Given the description of an element on the screen output the (x, y) to click on. 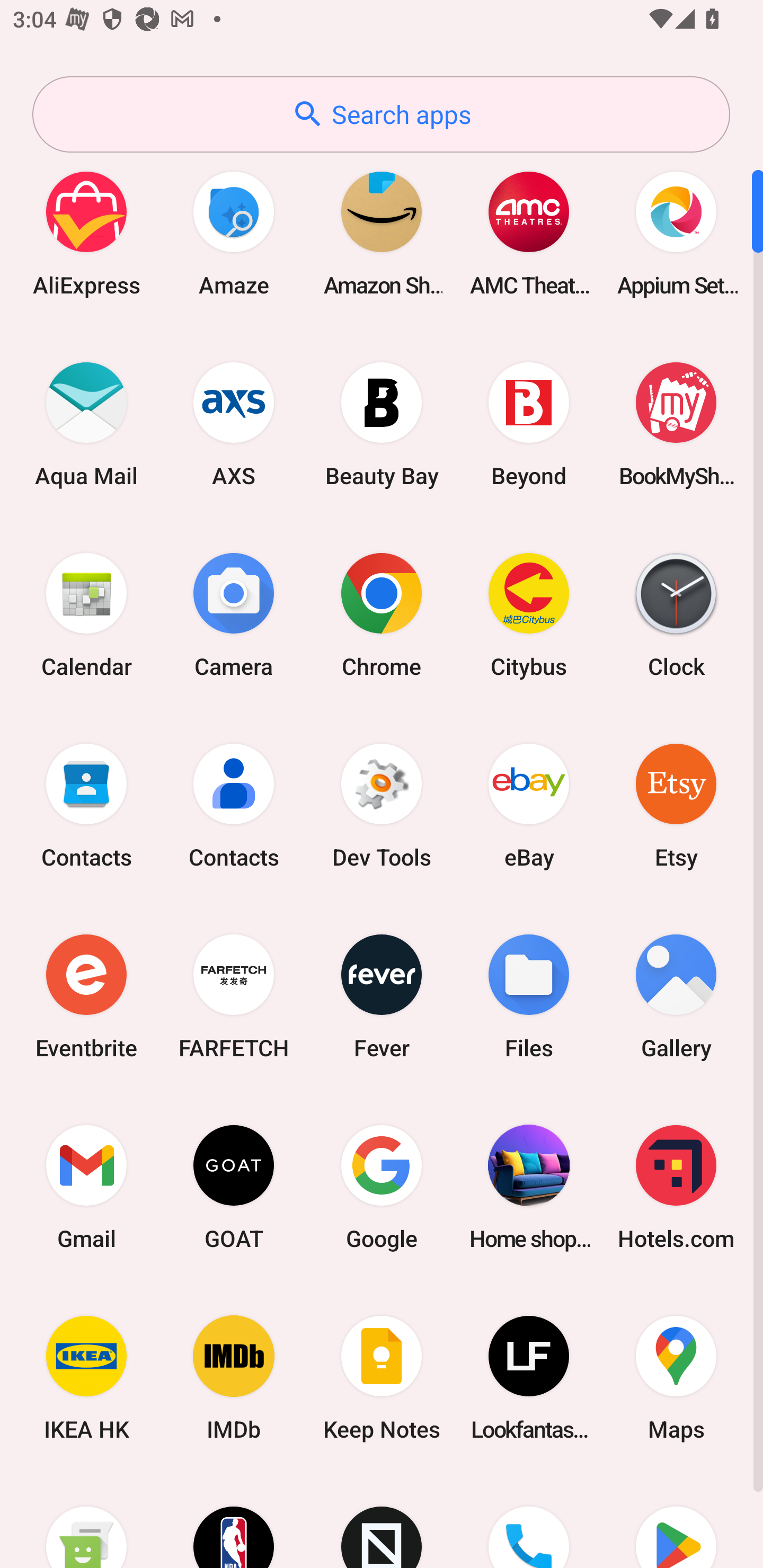
  Search apps (381, 114)
AliExpress (86, 233)
Amaze (233, 233)
Amazon Shopping (381, 233)
AMC Theatres (528, 233)
Appium Settings (676, 233)
Aqua Mail (86, 424)
AXS (233, 424)
Beauty Bay (381, 424)
Beyond (528, 424)
BookMyShow (676, 424)
Calendar (86, 614)
Camera (233, 614)
Chrome (381, 614)
Citybus (528, 614)
Clock (676, 614)
Contacts (86, 805)
Contacts (233, 805)
Dev Tools (381, 805)
eBay (528, 805)
Etsy (676, 805)
Eventbrite (86, 996)
FARFETCH (233, 996)
Fever (381, 996)
Files (528, 996)
Gallery (676, 996)
Gmail (86, 1186)
GOAT (233, 1186)
Google (381, 1186)
Home shopping (528, 1186)
Hotels.com (676, 1186)
IKEA HK (86, 1377)
IMDb (233, 1377)
Keep Notes (381, 1377)
Lookfantastic (528, 1377)
Maps (676, 1377)
Messaging (86, 1520)
NBA (233, 1520)
Novelship (381, 1520)
Phone (528, 1520)
Play Store (676, 1520)
